Given the description of an element on the screen output the (x, y) to click on. 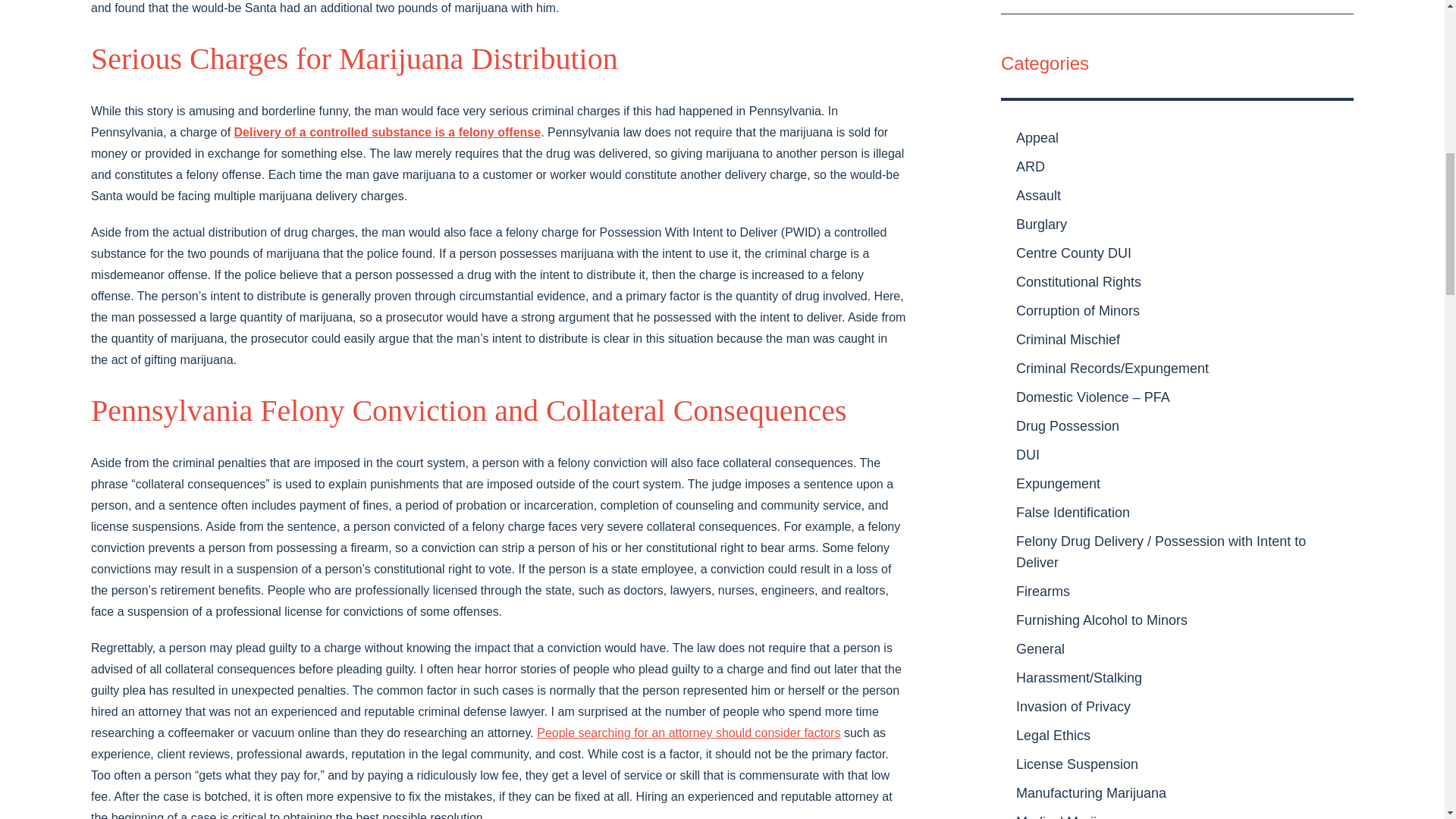
Assault (1177, 194)
Centre County DUI (1177, 253)
Expungement (1177, 483)
Appeal (1177, 137)
Furnishing Alcohol to Minors (1177, 620)
Firearms (1177, 591)
DUI (1177, 454)
Criminal Mischief (1177, 339)
Drug Possession (1177, 425)
Burglary (1177, 224)
